Given the description of an element on the screen output the (x, y) to click on. 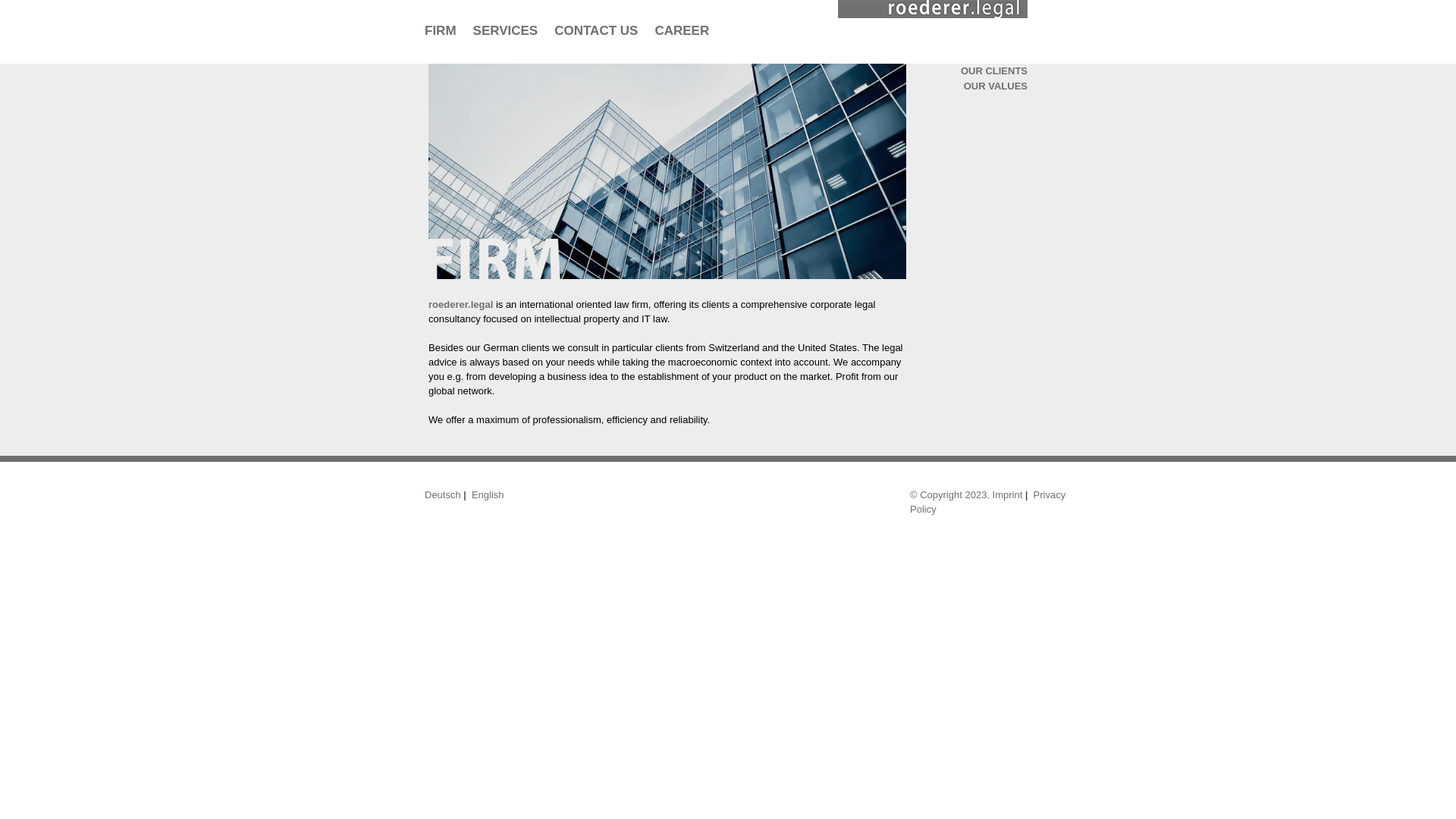
OUR VALUES (995, 85)
Imprint (1007, 493)
OUR CLIENTS (993, 70)
CONTACT US (596, 30)
Deutsch (443, 493)
FIRM (440, 30)
SERVICES (504, 30)
Privacy Policy (987, 501)
CAREER (681, 30)
English (487, 493)
